Given the description of an element on the screen output the (x, y) to click on. 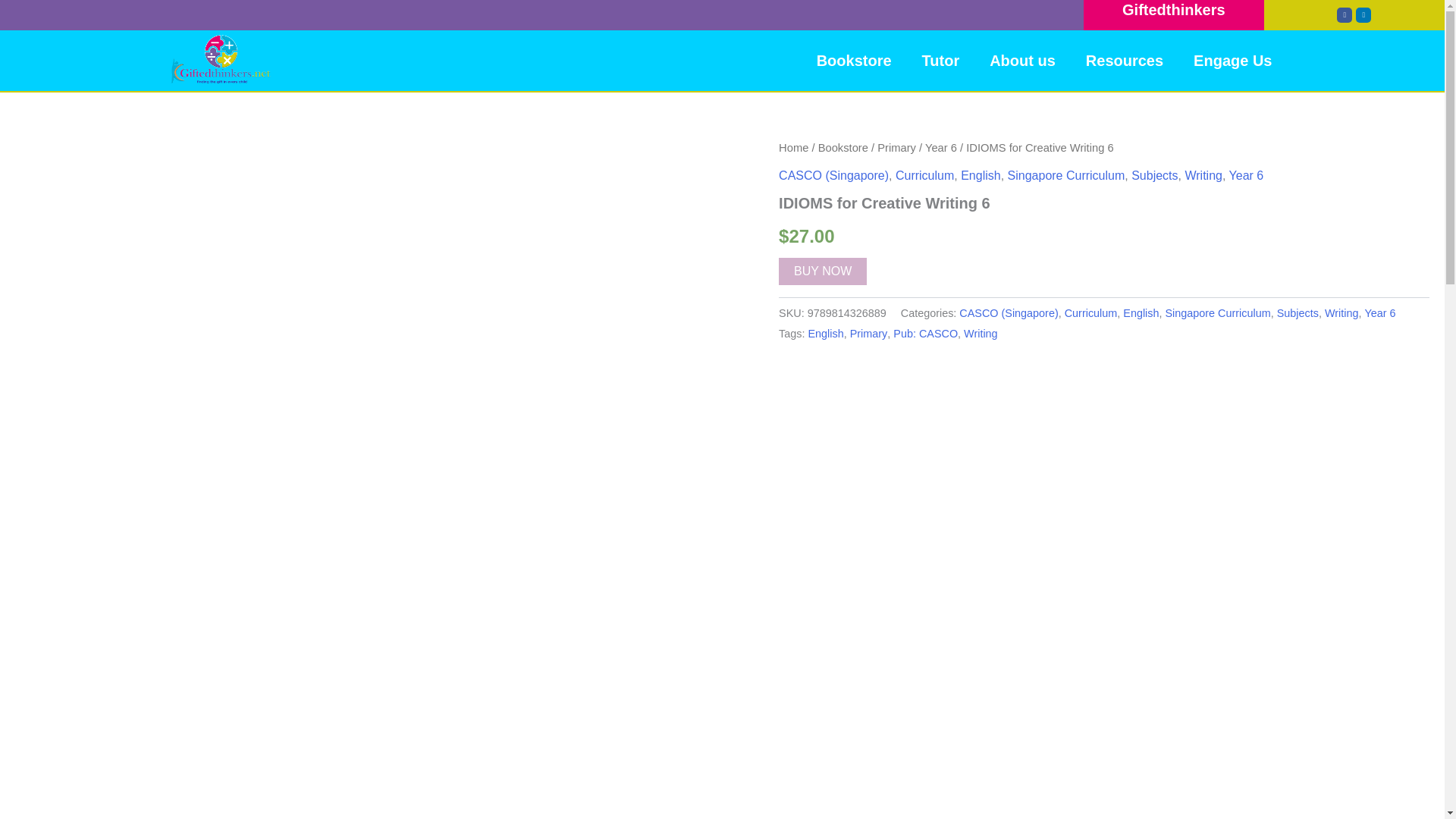
Home (793, 147)
About us (1022, 60)
Subjects (1154, 174)
Primary (896, 147)
Facebook (1344, 14)
Resources (1123, 60)
Year 6 (940, 147)
Writing (1204, 174)
Linkedin (1363, 14)
English (980, 174)
Year 6 (1245, 174)
Singapore Curriculum (1066, 174)
Curriculum (924, 174)
Tutor (941, 60)
Bookstore (842, 147)
